Given the description of an element on the screen output the (x, y) to click on. 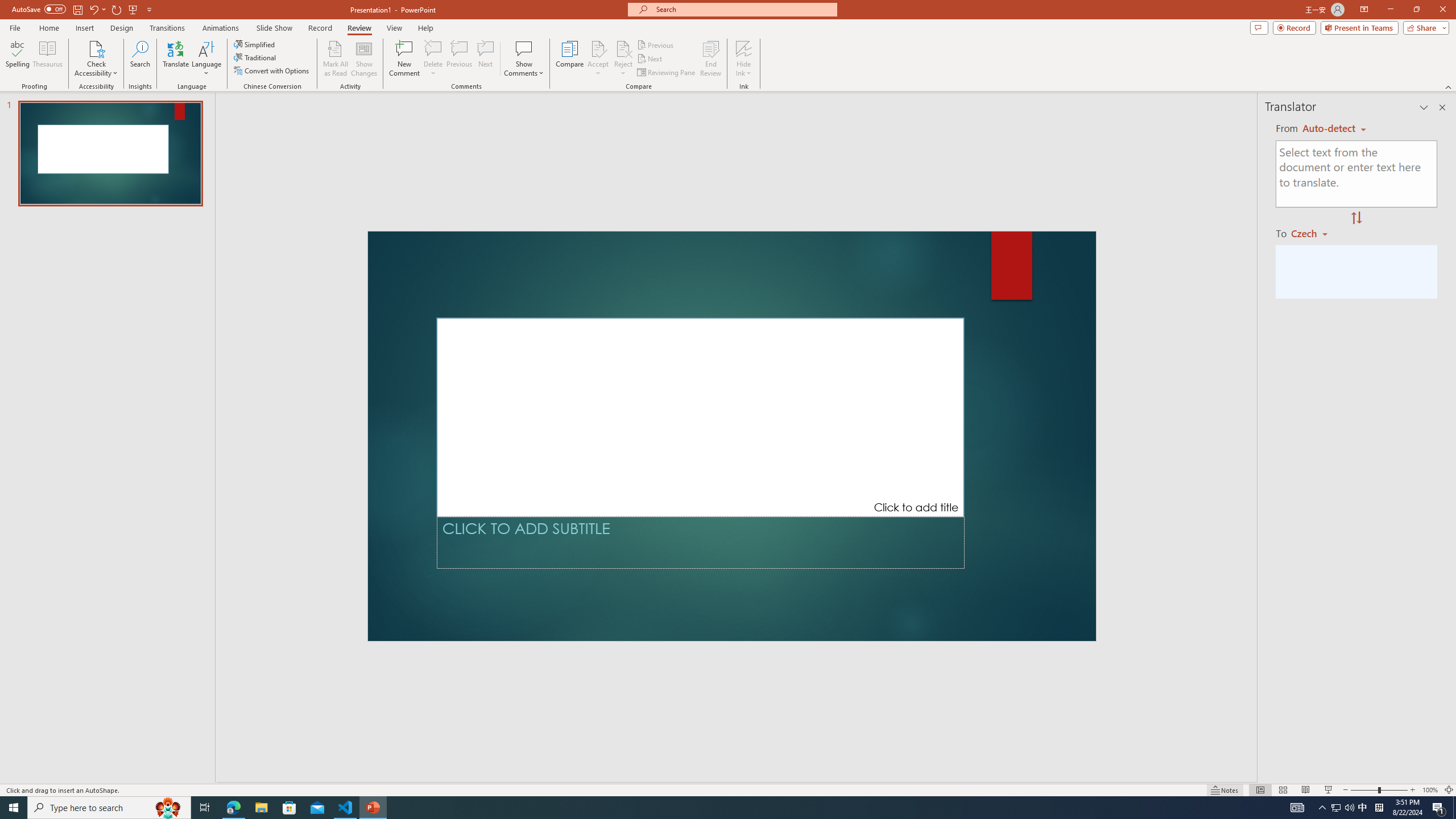
Translate (175, 58)
Thesaurus... (47, 58)
Show Comments (524, 58)
Show Comments (524, 48)
